Given the description of an element on the screen output the (x, y) to click on. 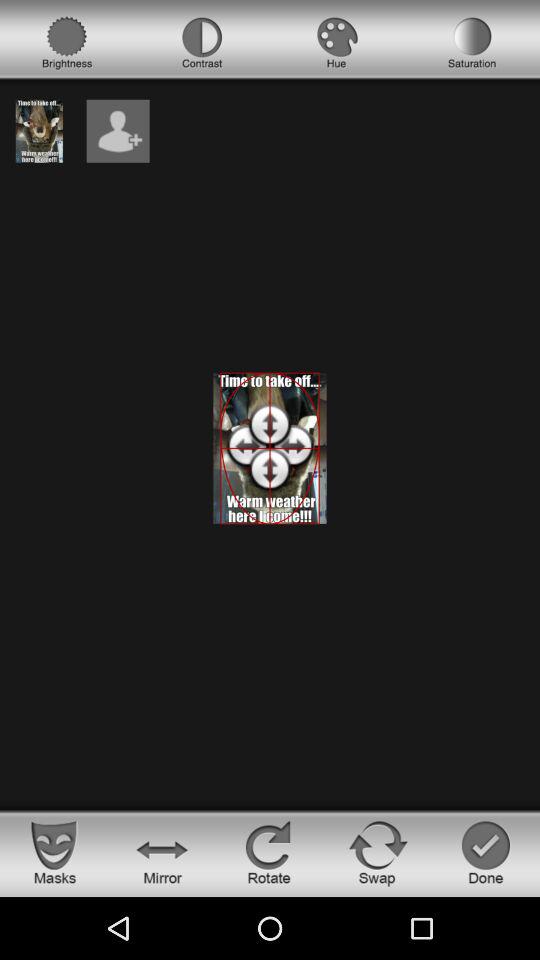
see image currently on screen (39, 130)
